Given the description of an element on the screen output the (x, y) to click on. 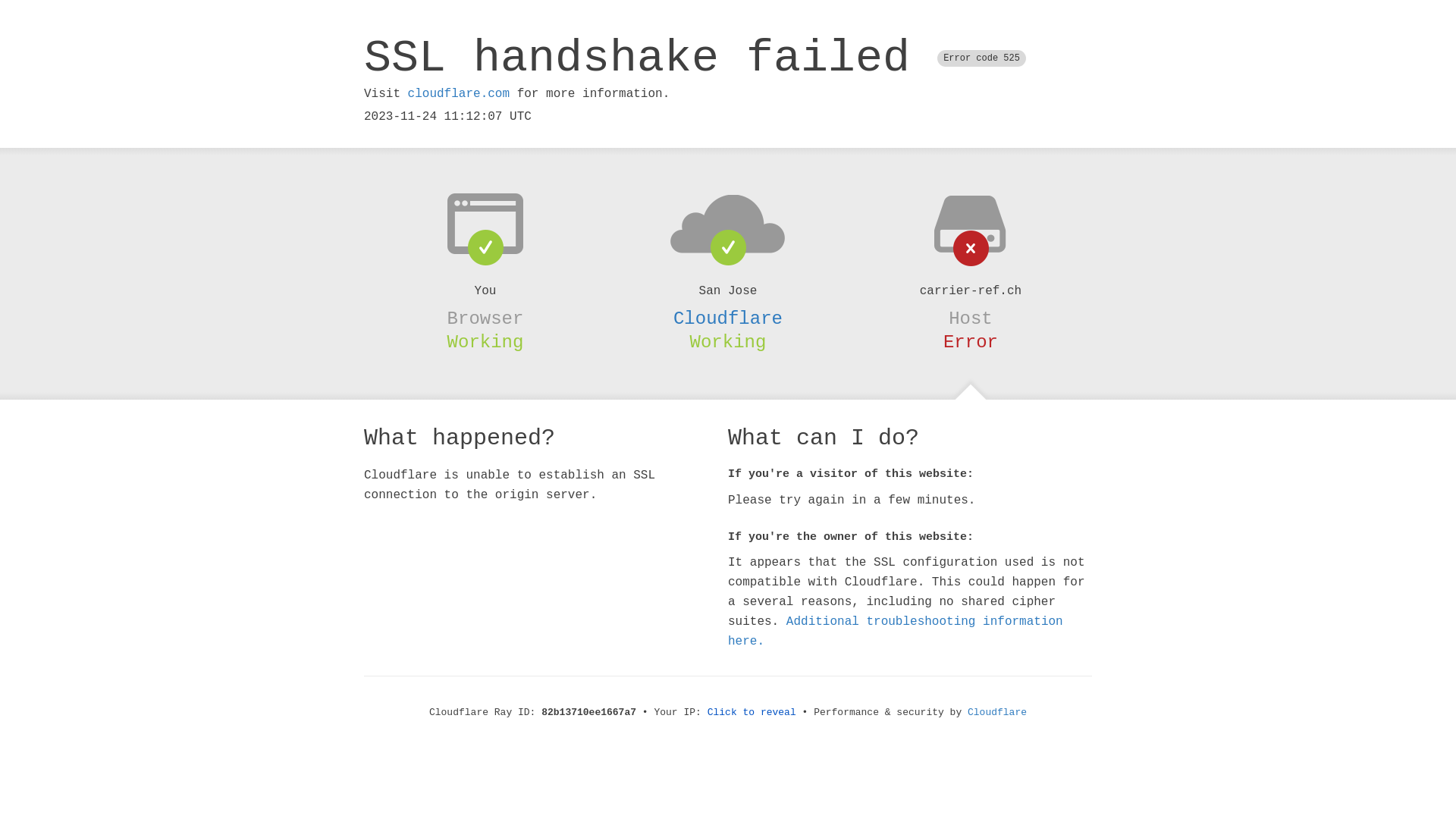
Cloudflare Element type: text (727, 318)
Additional troubleshooting information here. Element type: text (895, 631)
Cloudflare Element type: text (996, 712)
Click to reveal Element type: text (751, 712)
cloudflare.com Element type: text (458, 93)
